Given the description of an element on the screen output the (x, y) to click on. 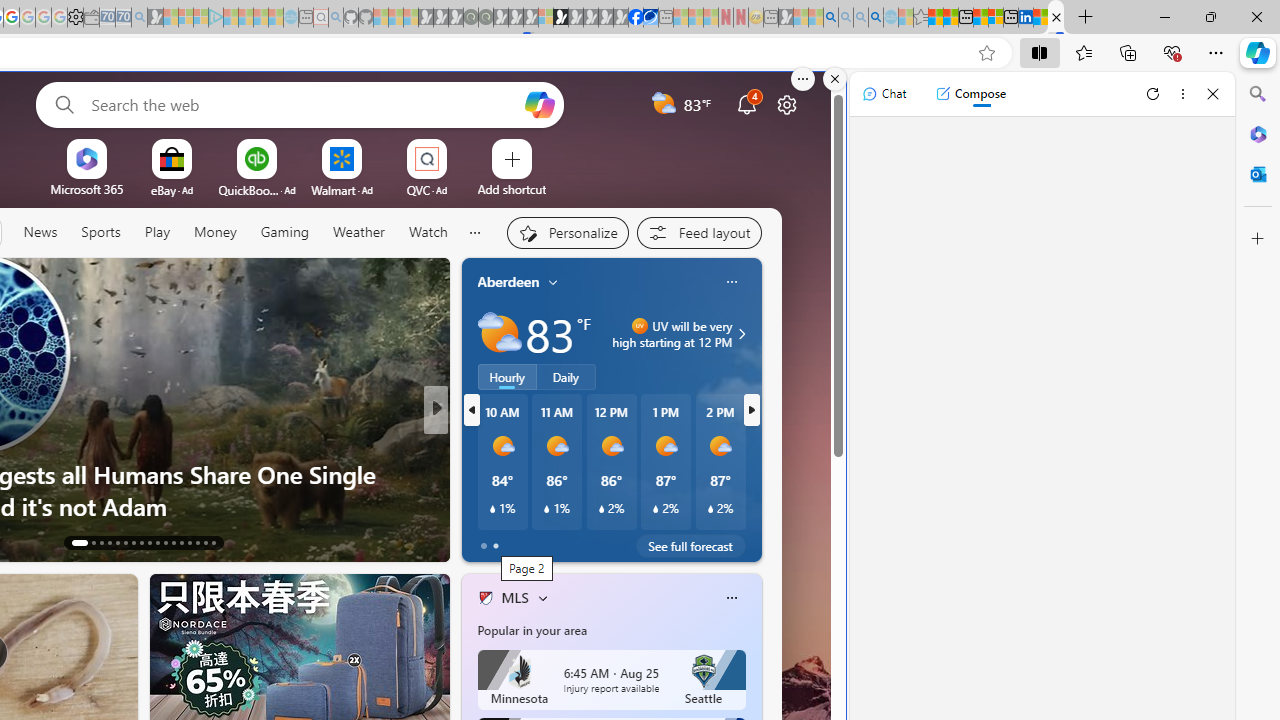
Wallet - Sleeping (91, 17)
Close Customize pane (1258, 239)
LinkedIn (1025, 17)
475 Like (490, 541)
